Given the description of an element on the screen output the (x, y) to click on. 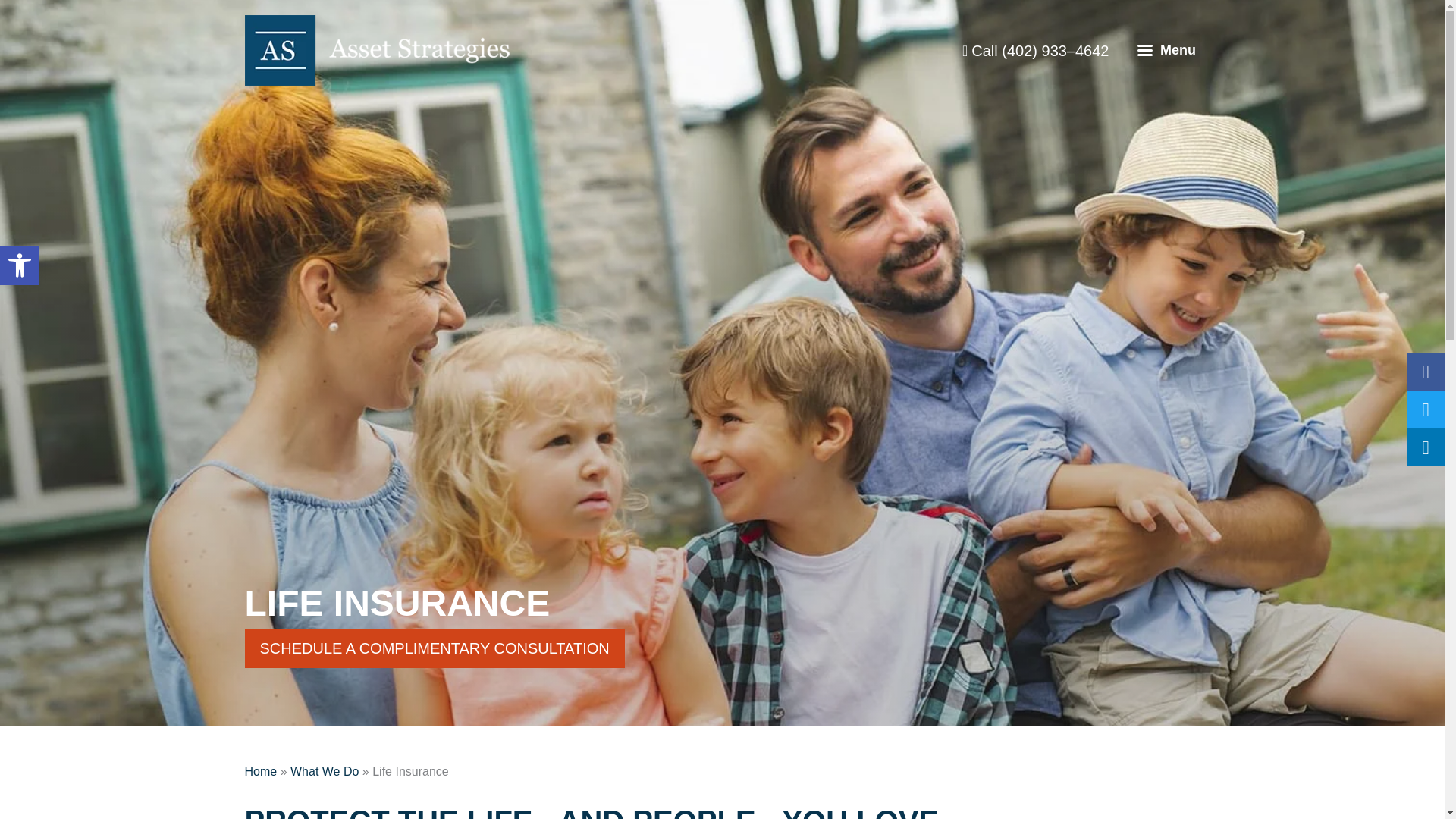
Accessibility Tools (19, 265)
Accessibility Tools (19, 265)
